Given the description of an element on the screen output the (x, y) to click on. 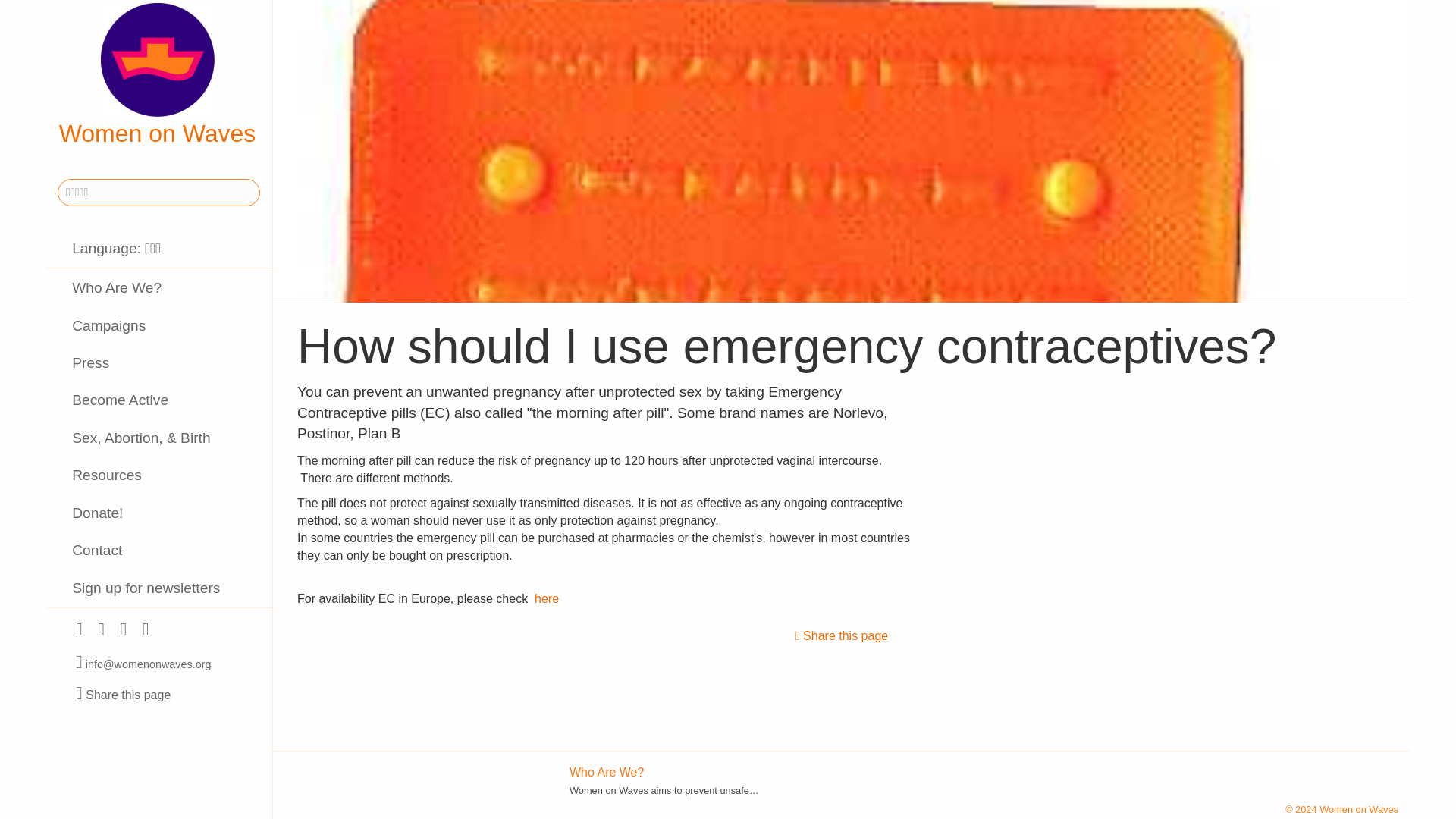
Sign up for newsletters (158, 588)
Women on Waves (157, 75)
Share this page (122, 694)
Press (158, 362)
here (546, 598)
Donate! (158, 512)
Campaigns (158, 325)
Resources (158, 475)
Who Are We? (606, 771)
Follow us on Youtube (122, 630)
Contact (158, 550)
Become Active (158, 399)
Share this page (841, 635)
Who Are We? (158, 287)
